Given the description of an element on the screen output the (x, y) to click on. 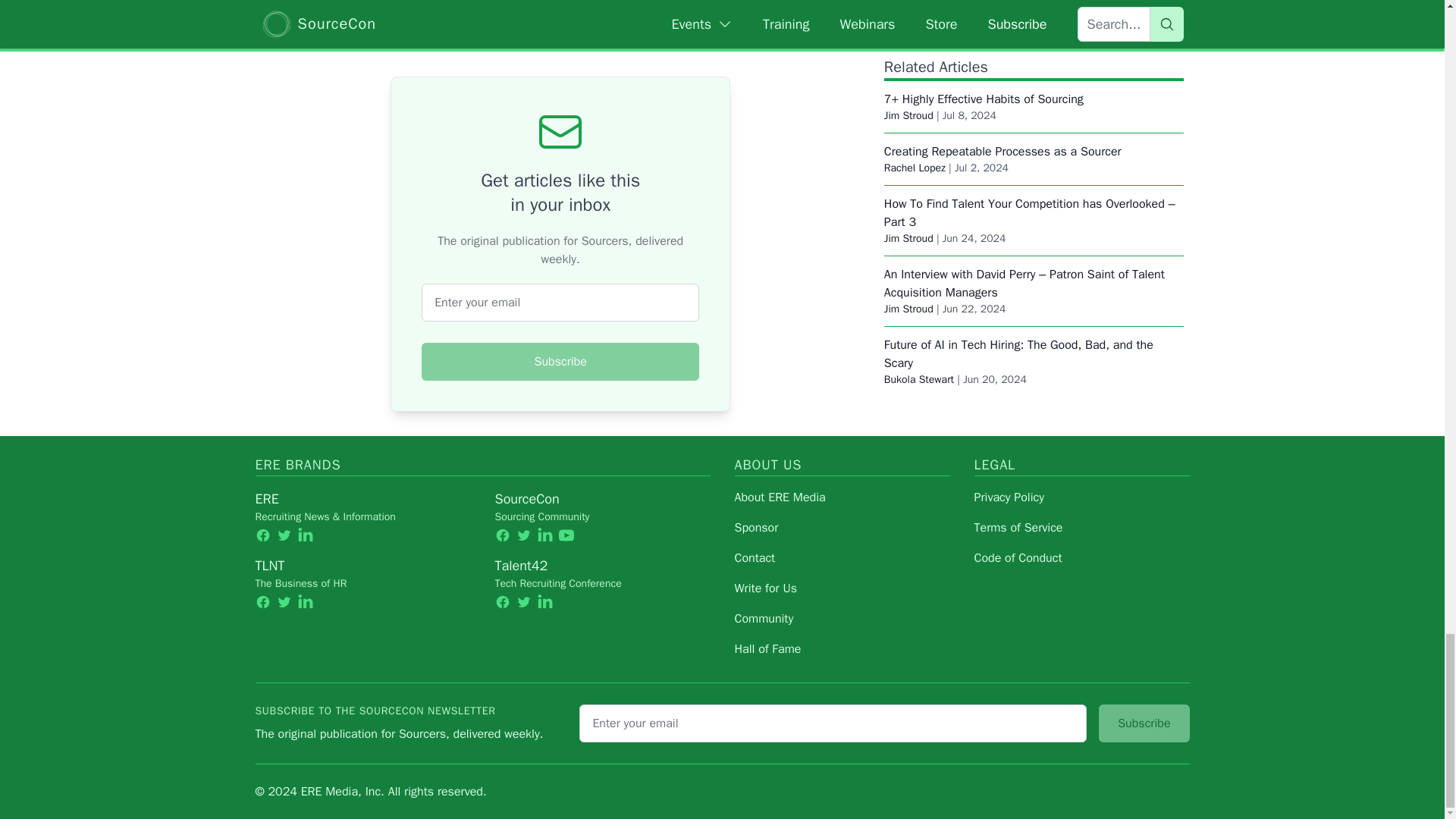
Subscribe (560, 361)
ERE (266, 498)
facebook (261, 534)
